Given the description of an element on the screen output the (x, y) to click on. 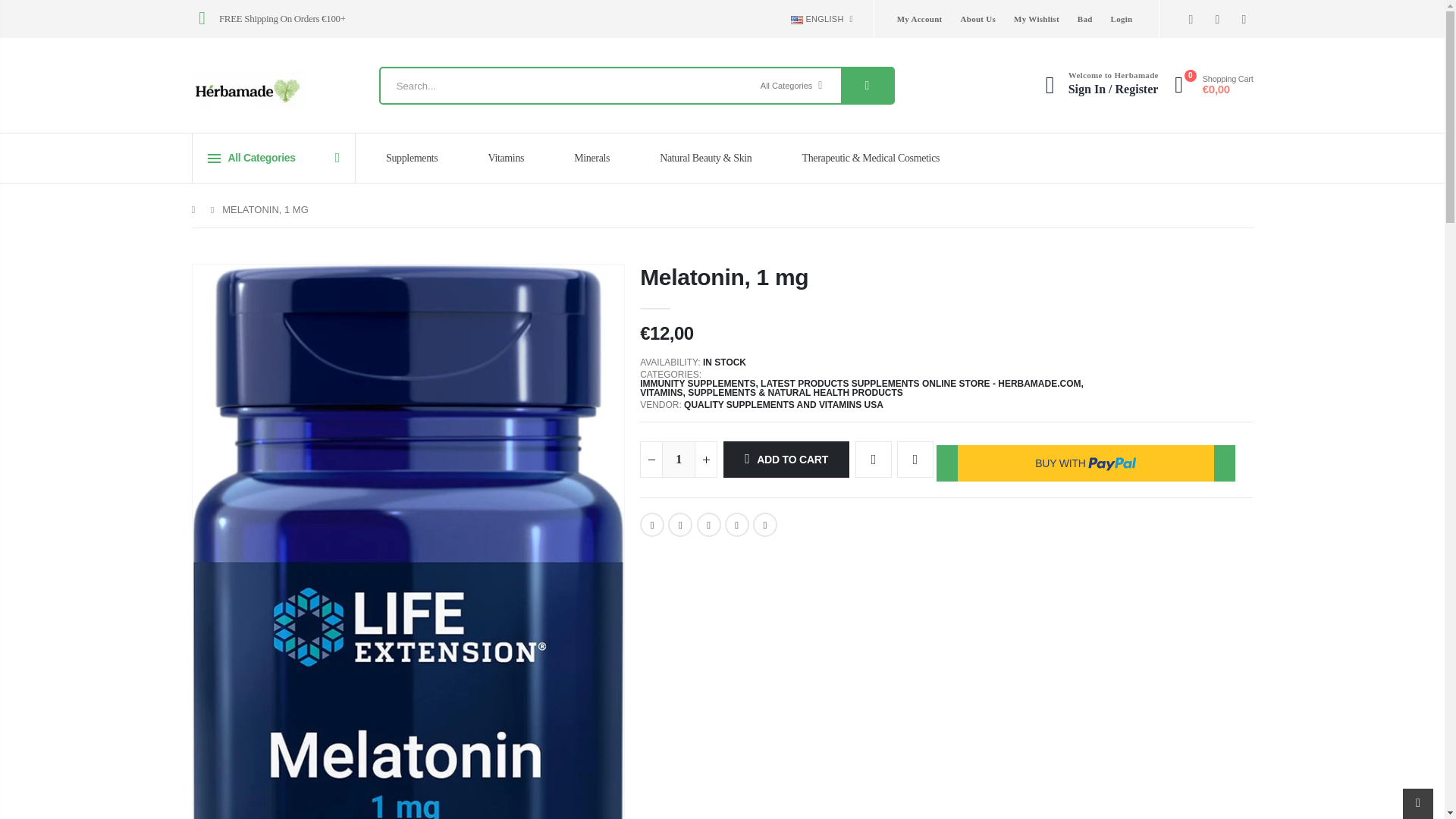
My Wishlist (1036, 18)
All Categories (795, 85)
All Categories (795, 85)
My account (1096, 84)
Login (1121, 18)
Melatonin, 1 mg (764, 524)
de (821, 66)
en (821, 43)
Melatonin, 1 mg (680, 524)
Melatonin, 1 mg (737, 524)
